Given the description of an element on the screen output the (x, y) to click on. 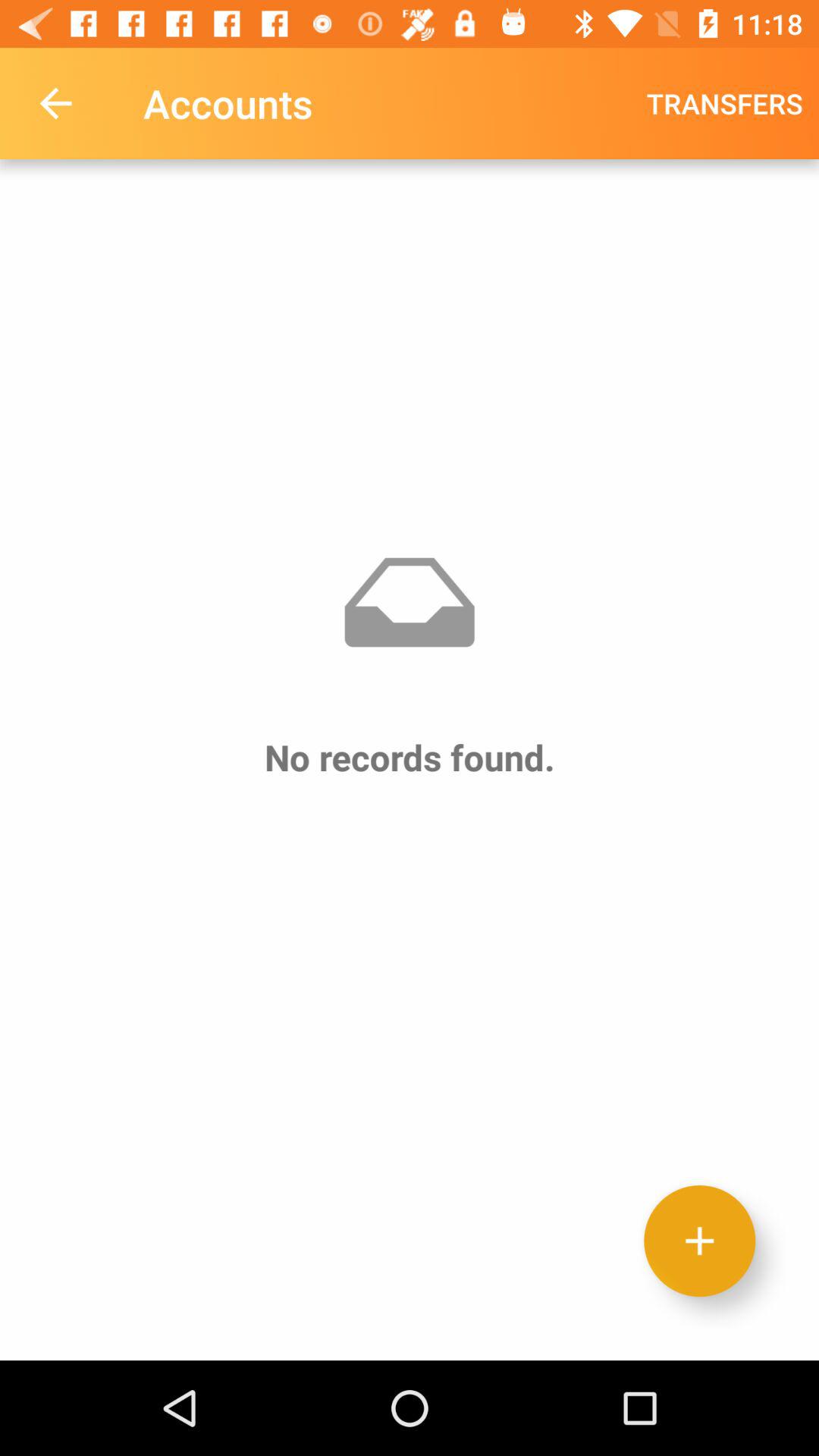
tap icon to the left of accounts icon (55, 103)
